Given the description of an element on the screen output the (x, y) to click on. 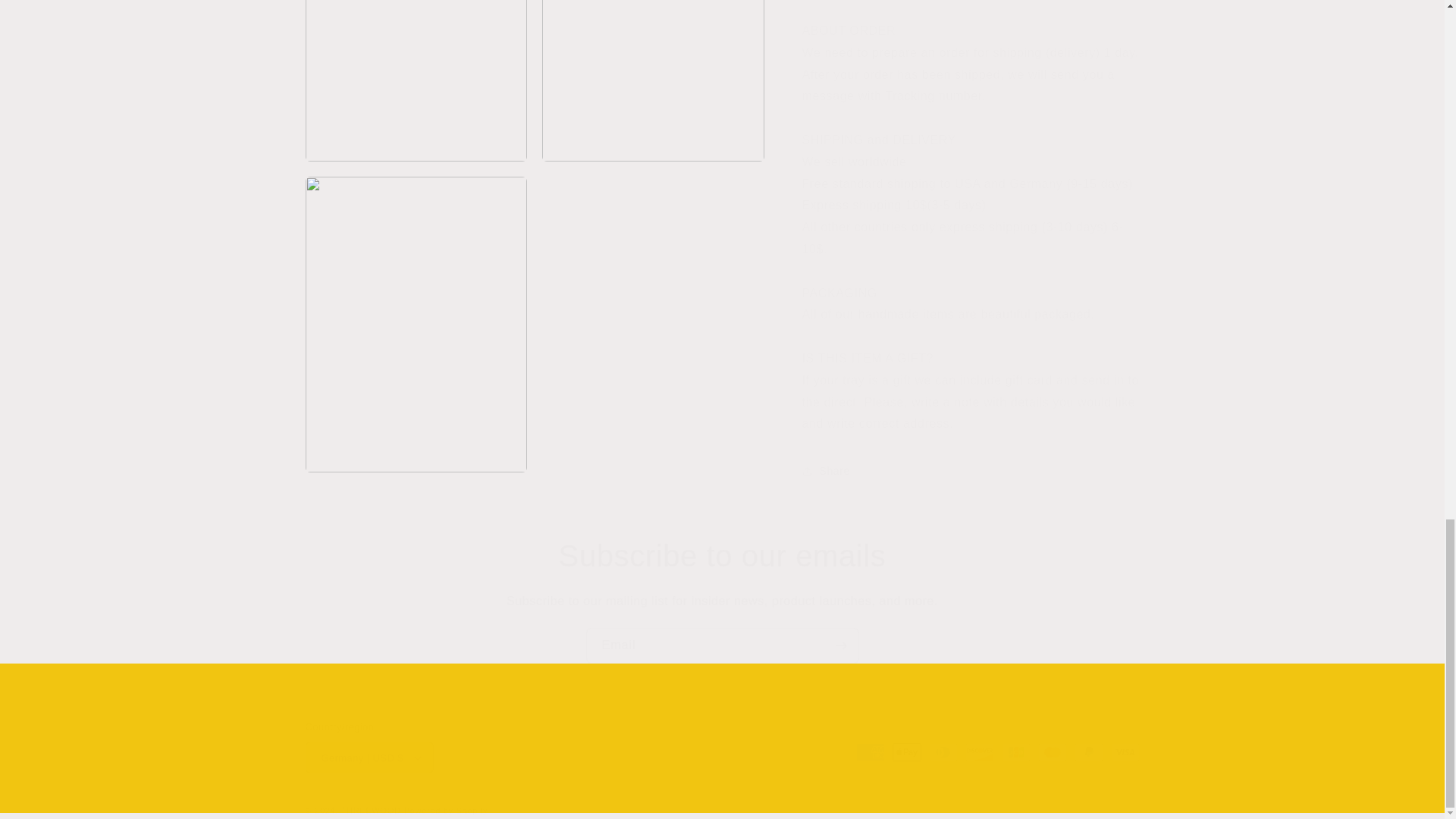
Email (722, 645)
Subscribe to our emails (721, 555)
